Given the description of an element on the screen output the (x, y) to click on. 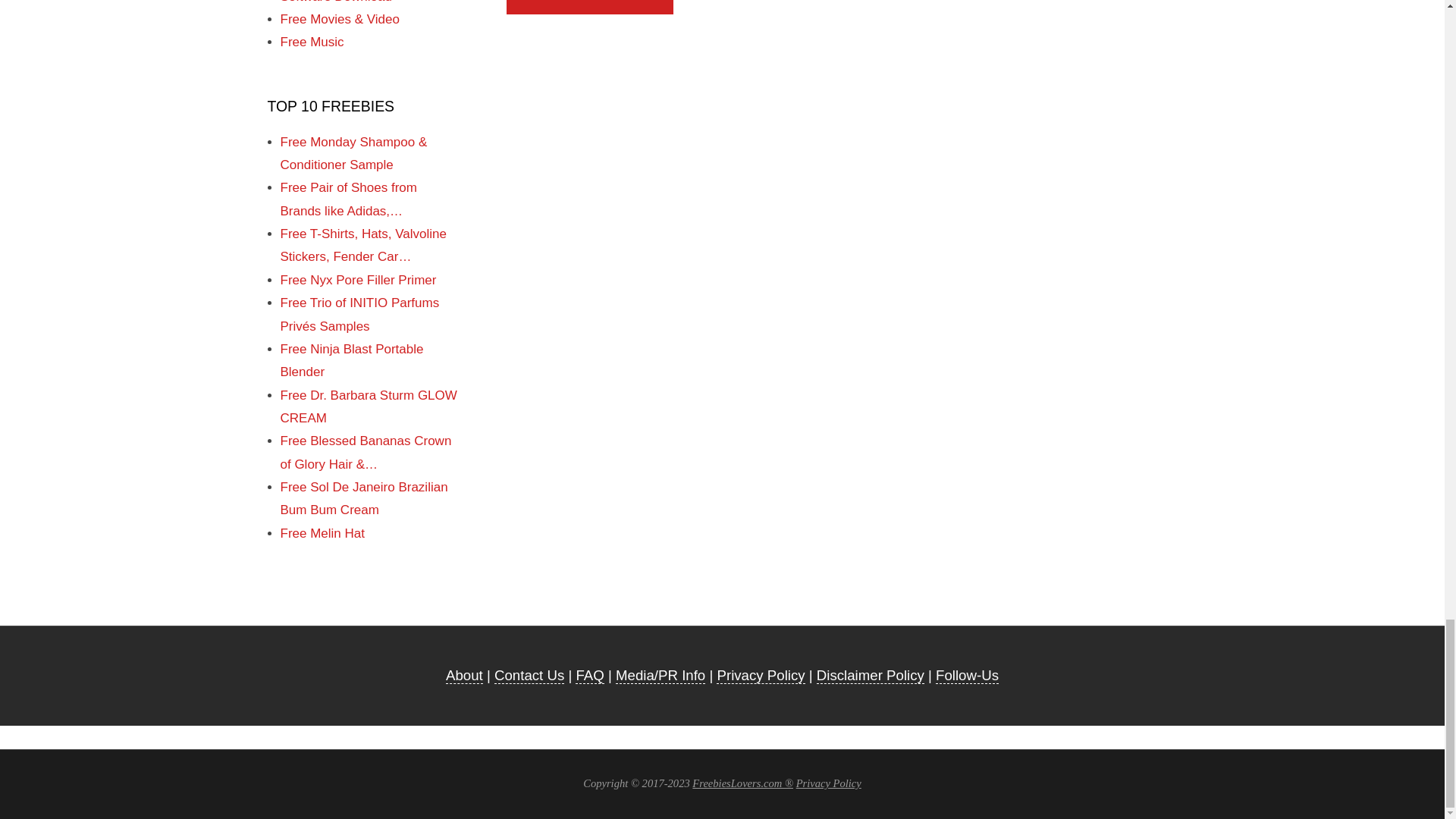
Post Comment (590, 6)
Post Comment (590, 6)
